Given the description of an element on the screen output the (x, y) to click on. 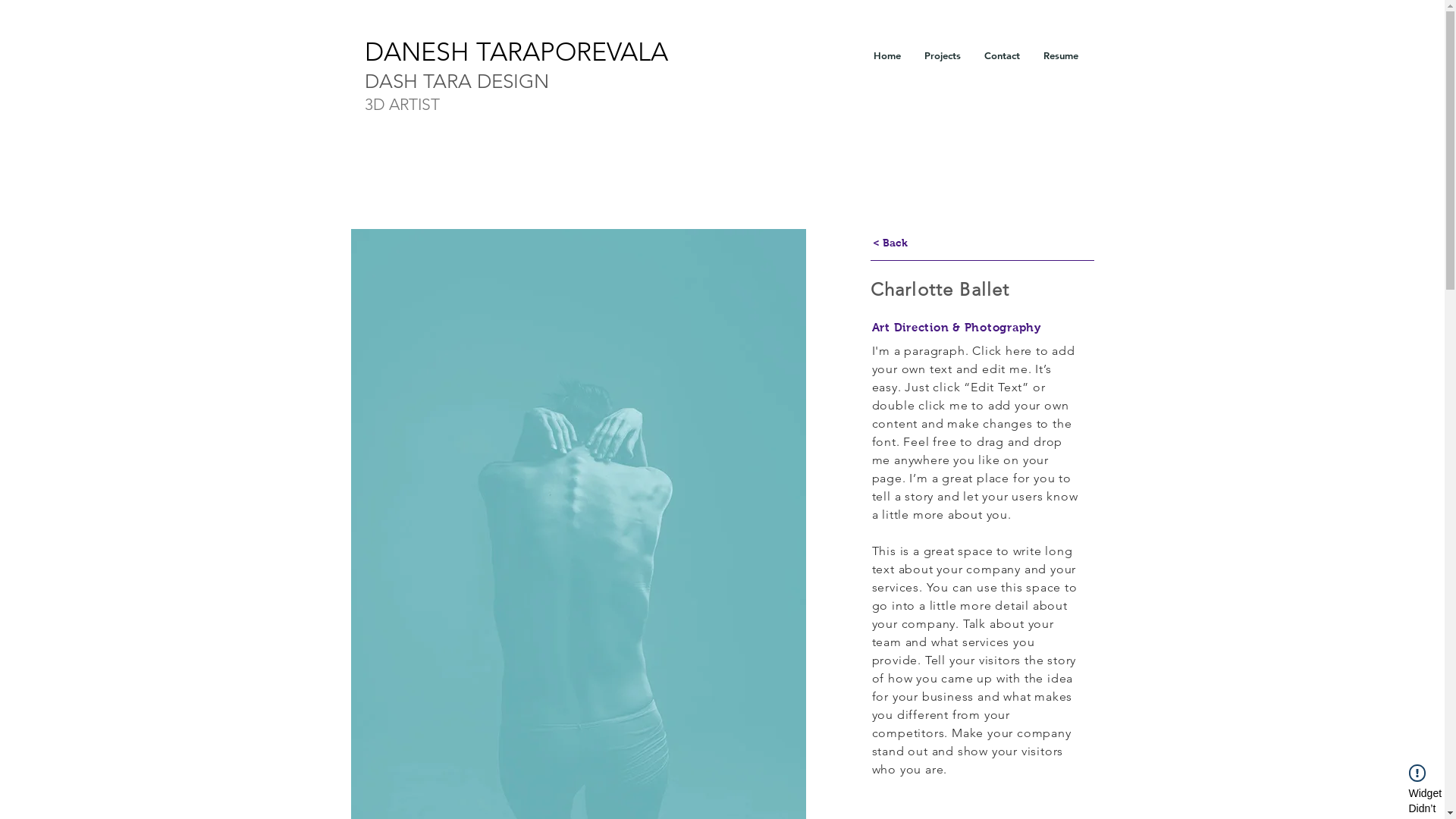
DANESH TARAPOREVALA Element type: text (515, 51)
Home Element type: text (886, 55)
Projects Element type: text (942, 55)
< Back Element type: text (889, 244)
Resume Element type: text (1059, 55)
Charlotte Ballet Element type: text (940, 289)
DASH TARA DESIGN Element type: text (456, 81)
Contact Element type: text (1001, 55)
